Given the description of an element on the screen output the (x, y) to click on. 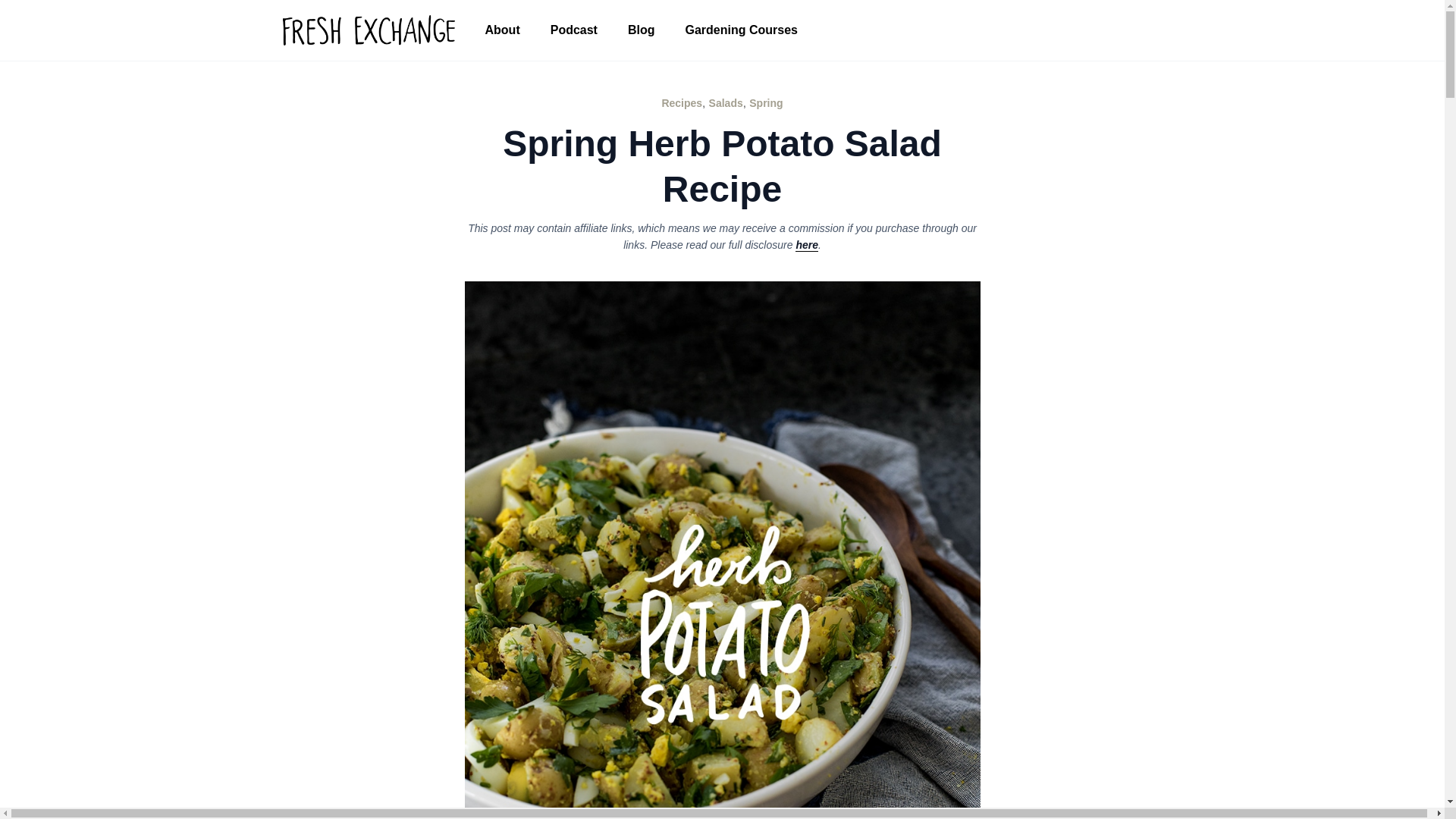
Salads (725, 102)
Blog (640, 30)
Gardening Courses (740, 30)
Podcast (573, 30)
About (502, 30)
Recipes (681, 102)
Spring (766, 102)
here (806, 245)
